Given the description of an element on the screen output the (x, y) to click on. 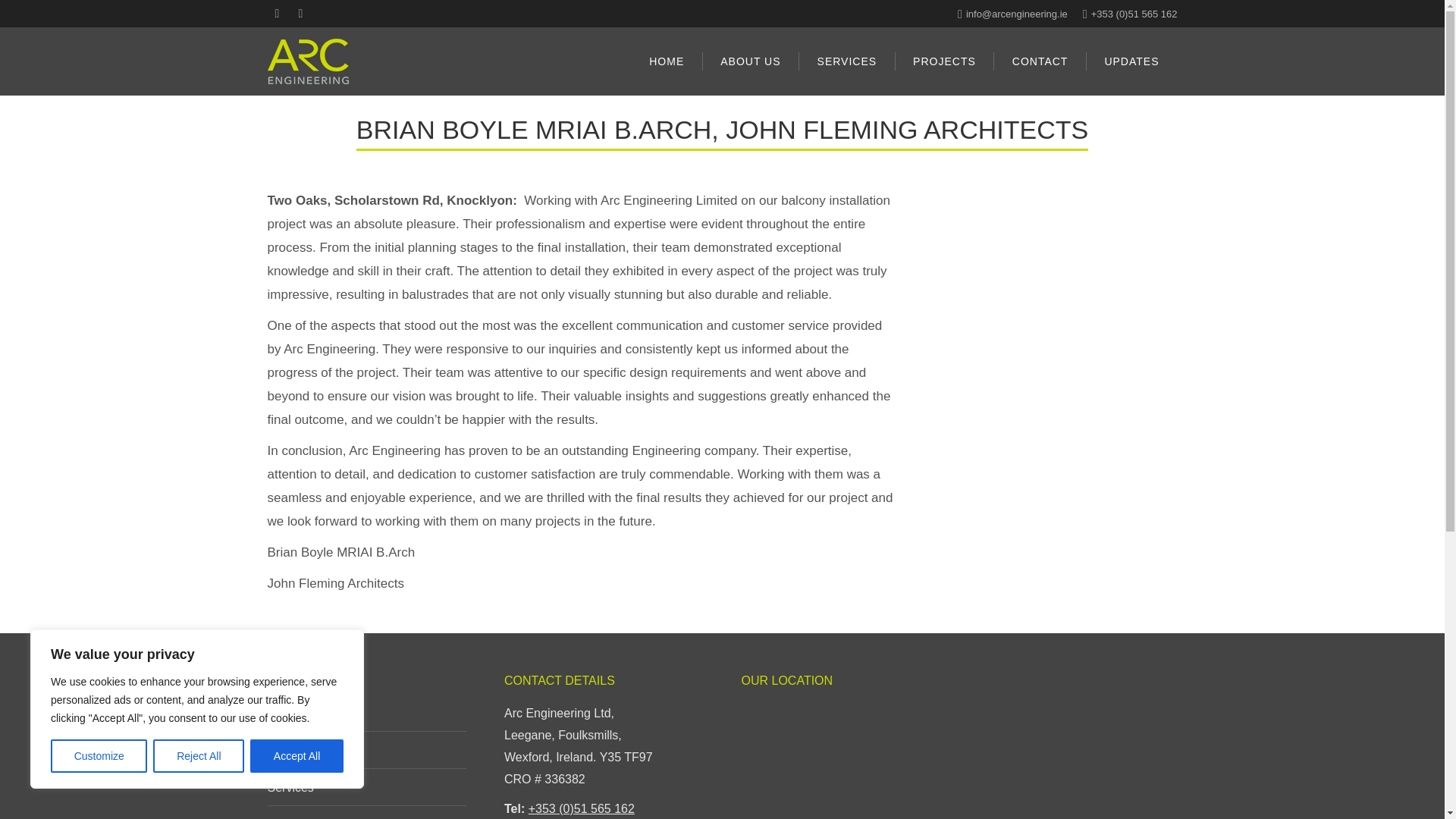
ABOUT US (750, 60)
UPDATES (1130, 60)
Reject All (198, 756)
SERVICES (846, 60)
CONTACT (1040, 60)
HOME (666, 60)
Accept All (296, 756)
Linkedin page opens in new window (276, 13)
Customize (98, 756)
YouTube page opens in new window (301, 13)
